Given the description of an element on the screen output the (x, y) to click on. 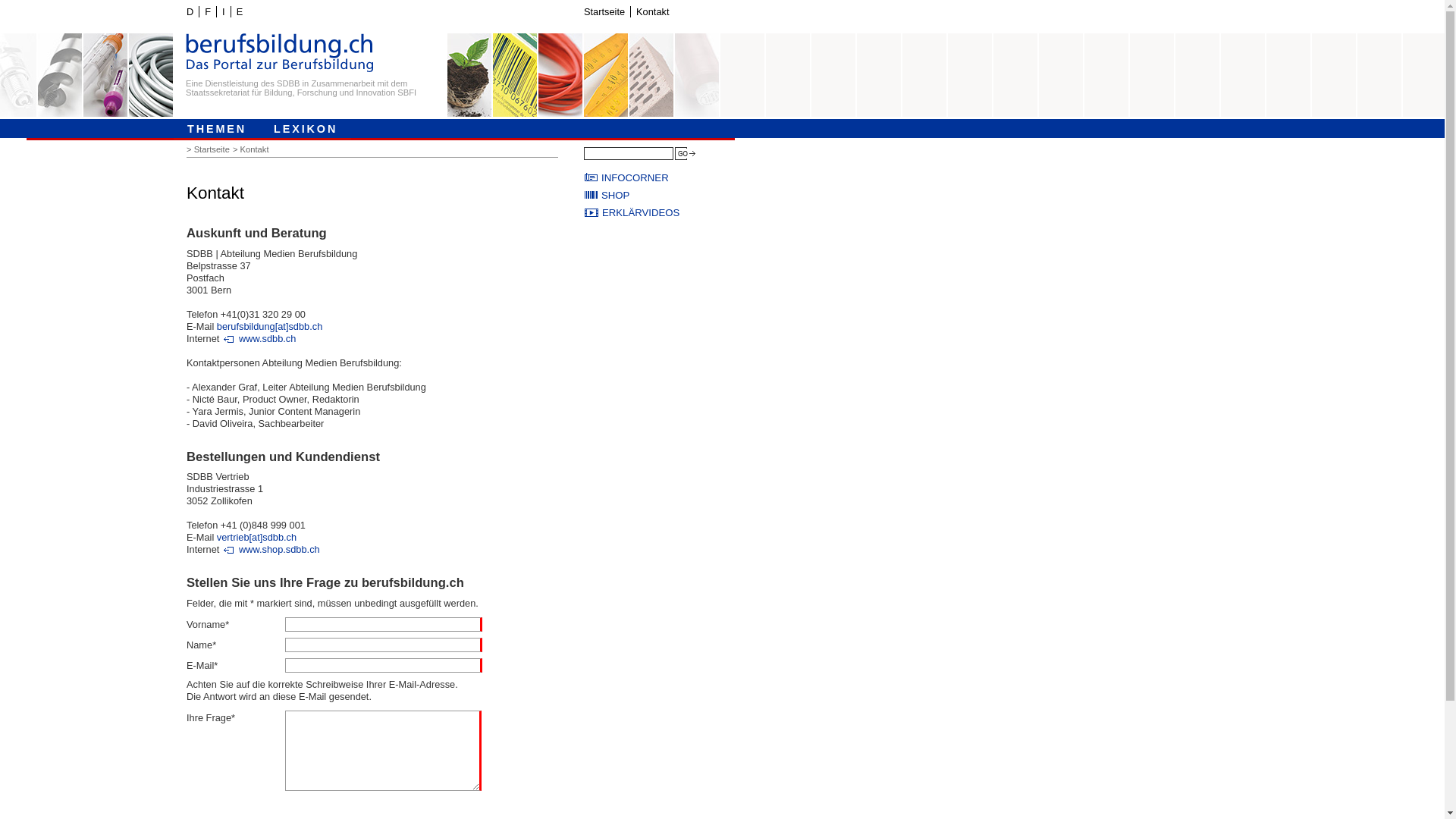
Kontakt Element type: text (256, 148)
THEMEN Element type: text (216, 126)
Startseite Element type: text (603, 11)
INFOCORNER Element type: text (659, 177)
www.sdbb.ch Element type: text (258, 338)
vertrieb[at]sdbb.ch Element type: text (256, 536)
Kontakt Element type: text (652, 11)
I Element type: text (223, 11)
E Element type: text (239, 11)
SHOP Element type: text (659, 195)
D Element type: text (189, 11)
F Element type: text (207, 11)
Startseite Element type: text (213, 148)
LEXIKON Element type: text (305, 126)
www.shop.sdbb.ch Element type: text (271, 549)
berufsbildung[at]sdbb.ch Element type: text (269, 326)
